Given the description of an element on the screen output the (x, y) to click on. 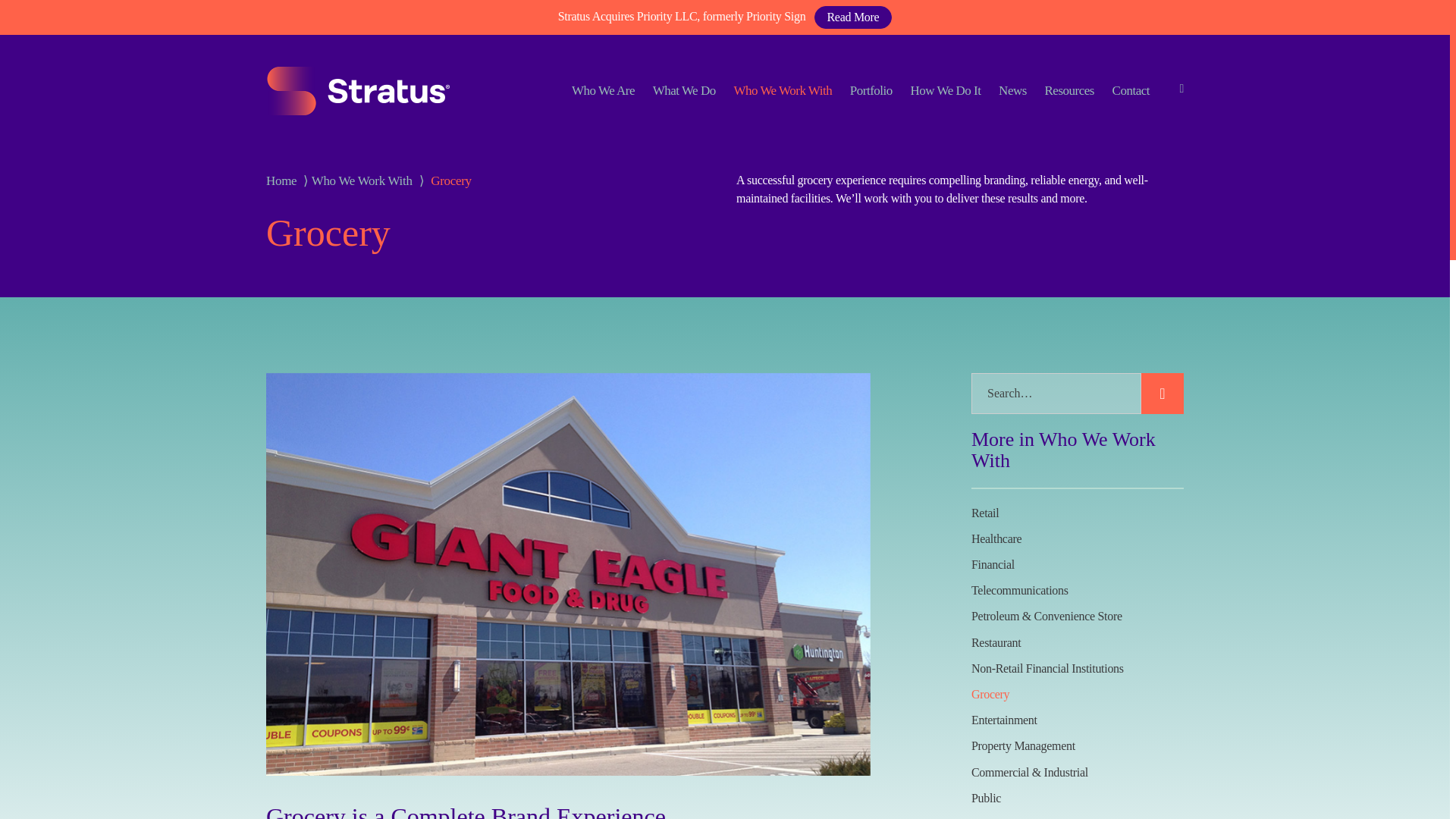
Read More (852, 16)
Who We Are (603, 90)
What We Do (684, 90)
Stratus Acquires Priority LLC, formerly Priority Sign (681, 15)
